Given the description of an element on the screen output the (x, y) to click on. 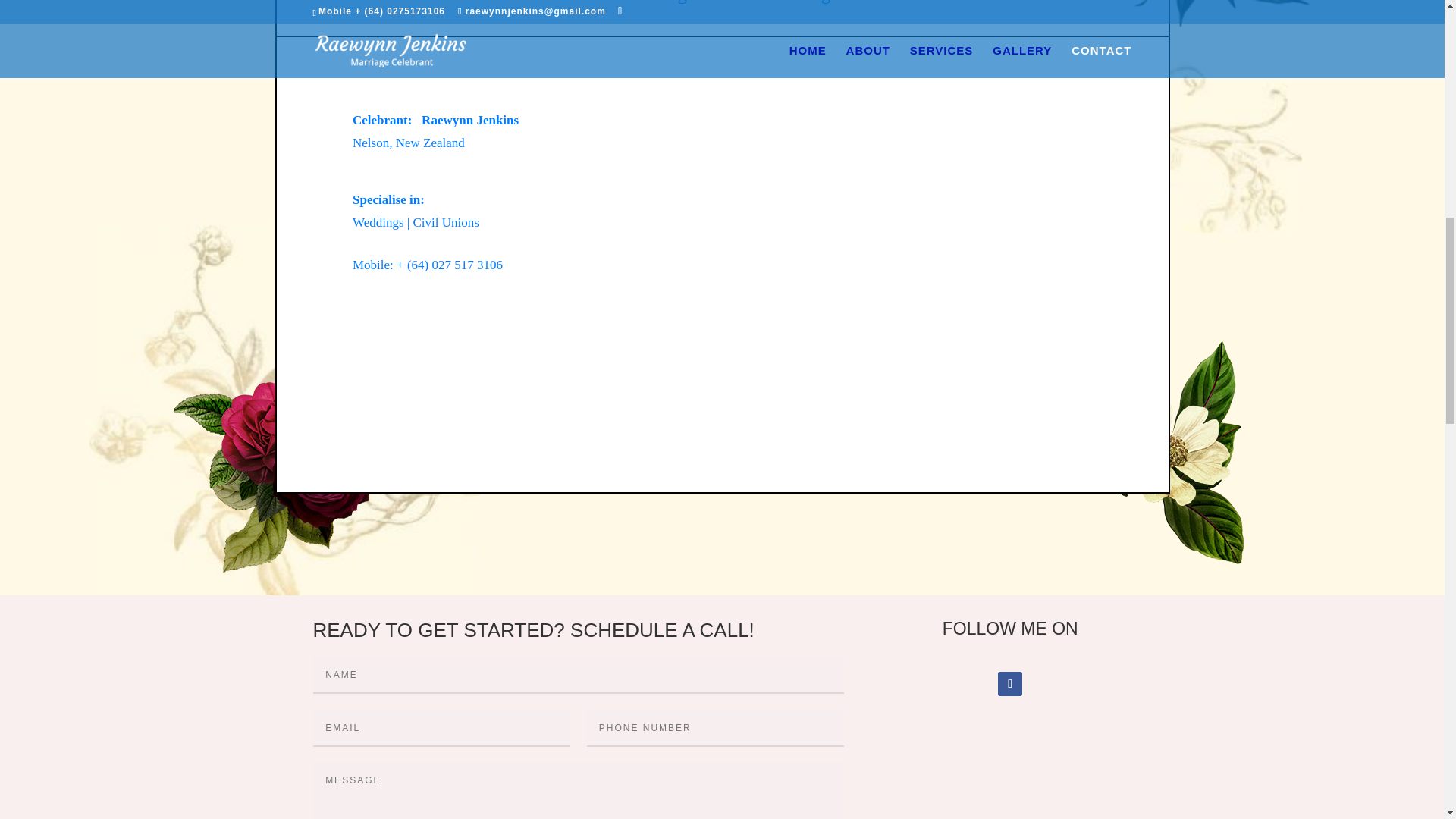
Only numbers allowed. (715, 728)
Follow on Facebook (1009, 683)
